Given the description of an element on the screen output the (x, y) to click on. 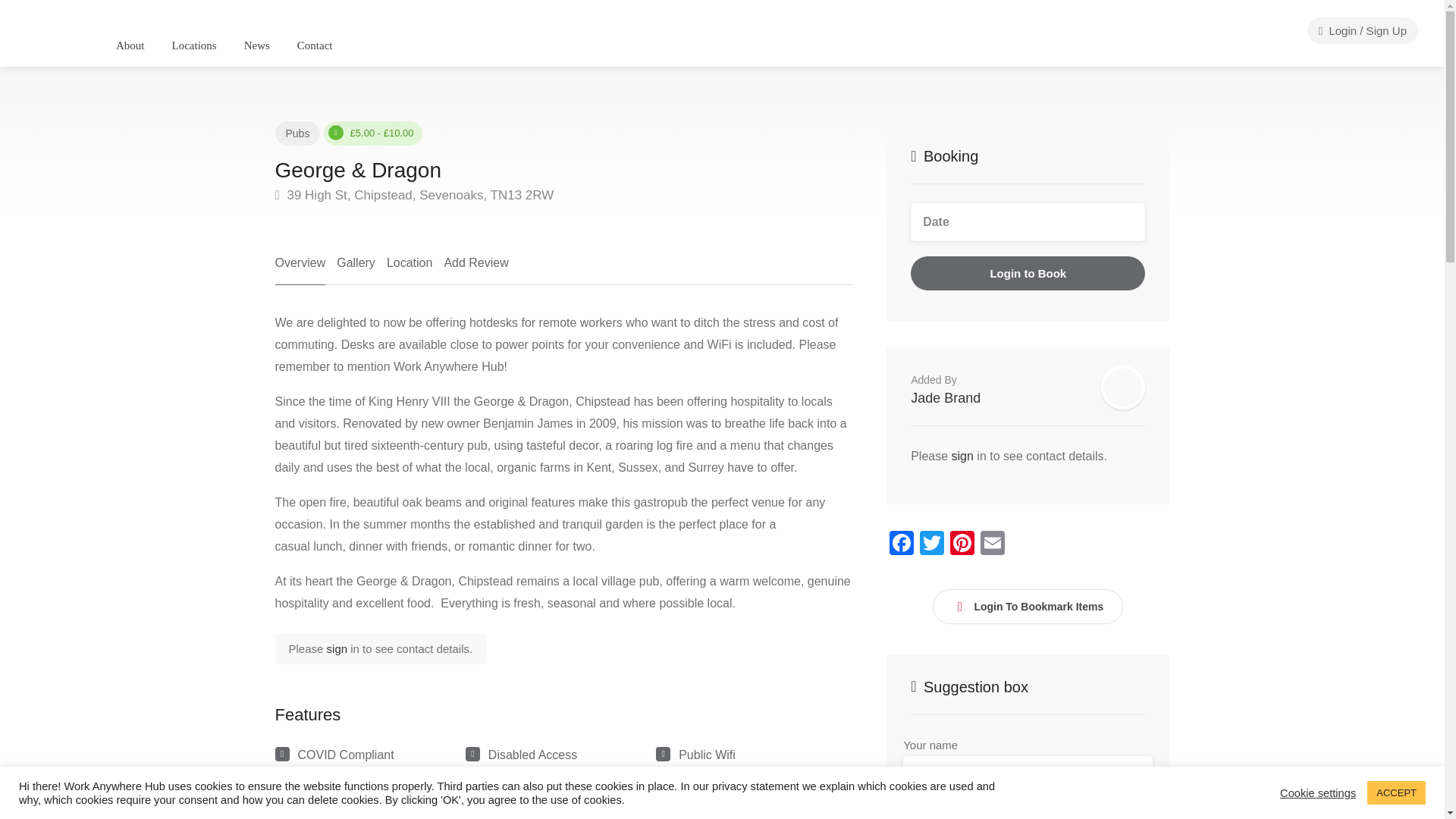
Pinterest (961, 544)
Disabled Access (531, 754)
Add Review (476, 268)
Twitter (932, 544)
Email (991, 544)
Locations (194, 45)
Gallery (355, 268)
Contact (314, 45)
News (256, 45)
sign (338, 648)
Public Wifi (706, 754)
Facebook (901, 544)
Pubs (296, 133)
COVID Compliant (345, 754)
Location (409, 268)
